Given the description of an element on the screen output the (x, y) to click on. 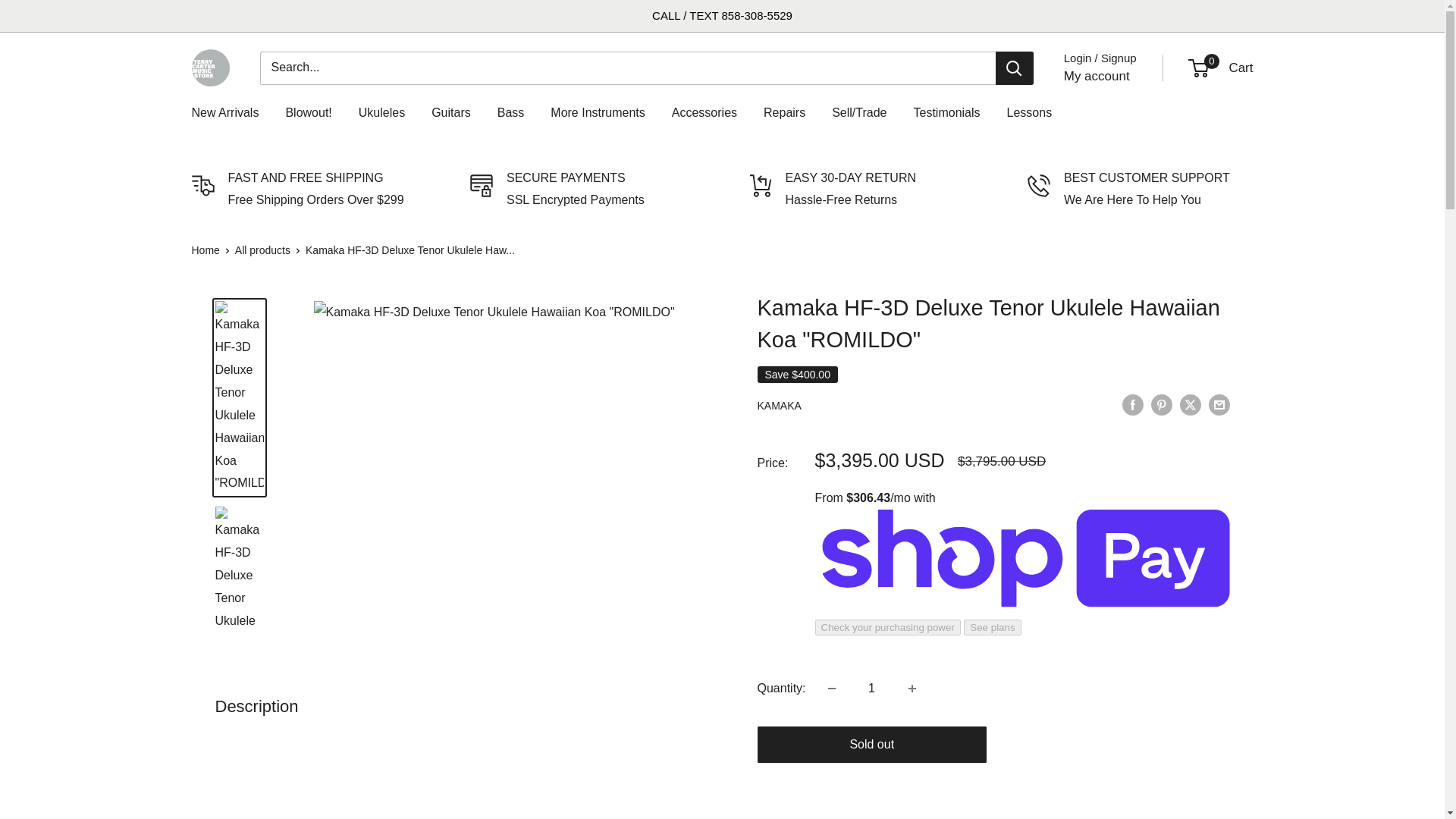
Ukuleles (381, 112)
Decrease quantity by 1 (831, 688)
Increase quantity by 1 (912, 688)
Bass (510, 112)
Blowout! (308, 112)
YouTube video player (427, 777)
Home (204, 250)
Terry Carter Music Store (209, 67)
More Instruments (597, 112)
Lessons (1029, 112)
1 (1221, 68)
My account (871, 688)
Repairs (1096, 76)
Accessories (783, 112)
